Given the description of an element on the screen output the (x, y) to click on. 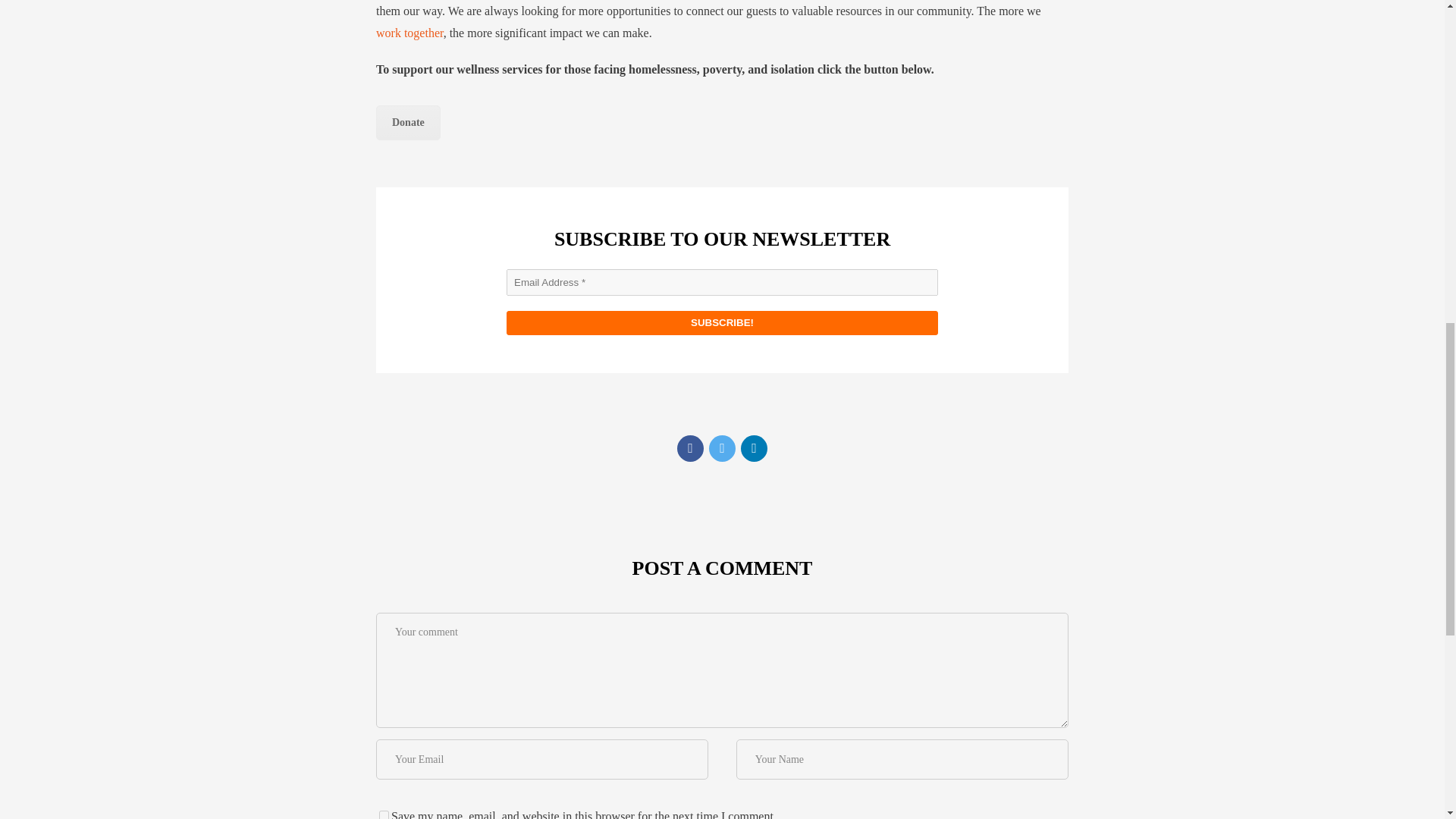
Email Address (721, 282)
SUBSCRIBE! (721, 322)
Donate (408, 122)
yes (383, 814)
